Given the description of an element on the screen output the (x, y) to click on. 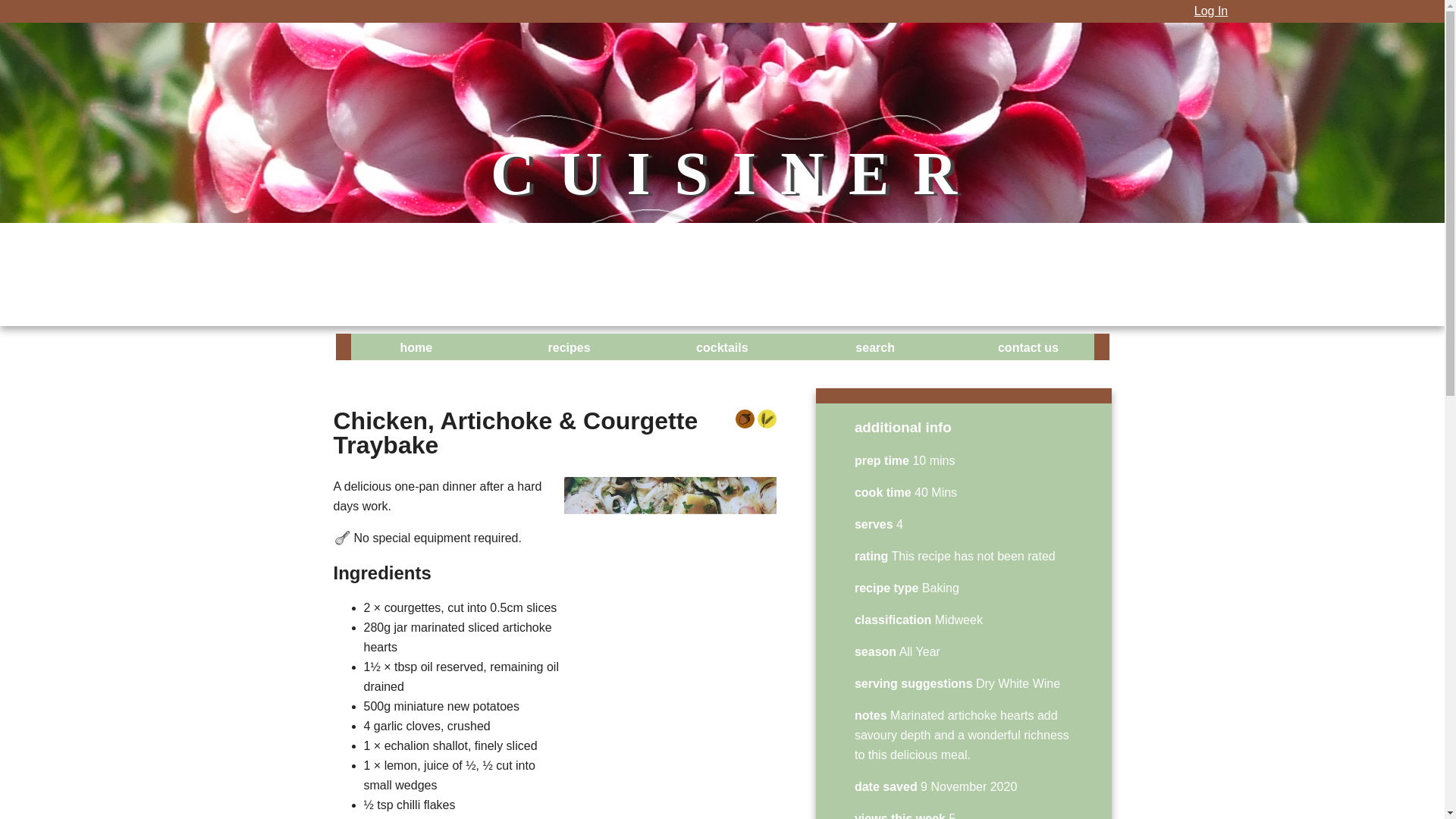
recipes (568, 348)
contact us (1027, 348)
home (415, 348)
search (874, 348)
Recipe may contain gluten (766, 418)
Log In (1210, 10)
cocktails (721, 348)
Recipe may contain nuts (744, 418)
